Given the description of an element on the screen output the (x, y) to click on. 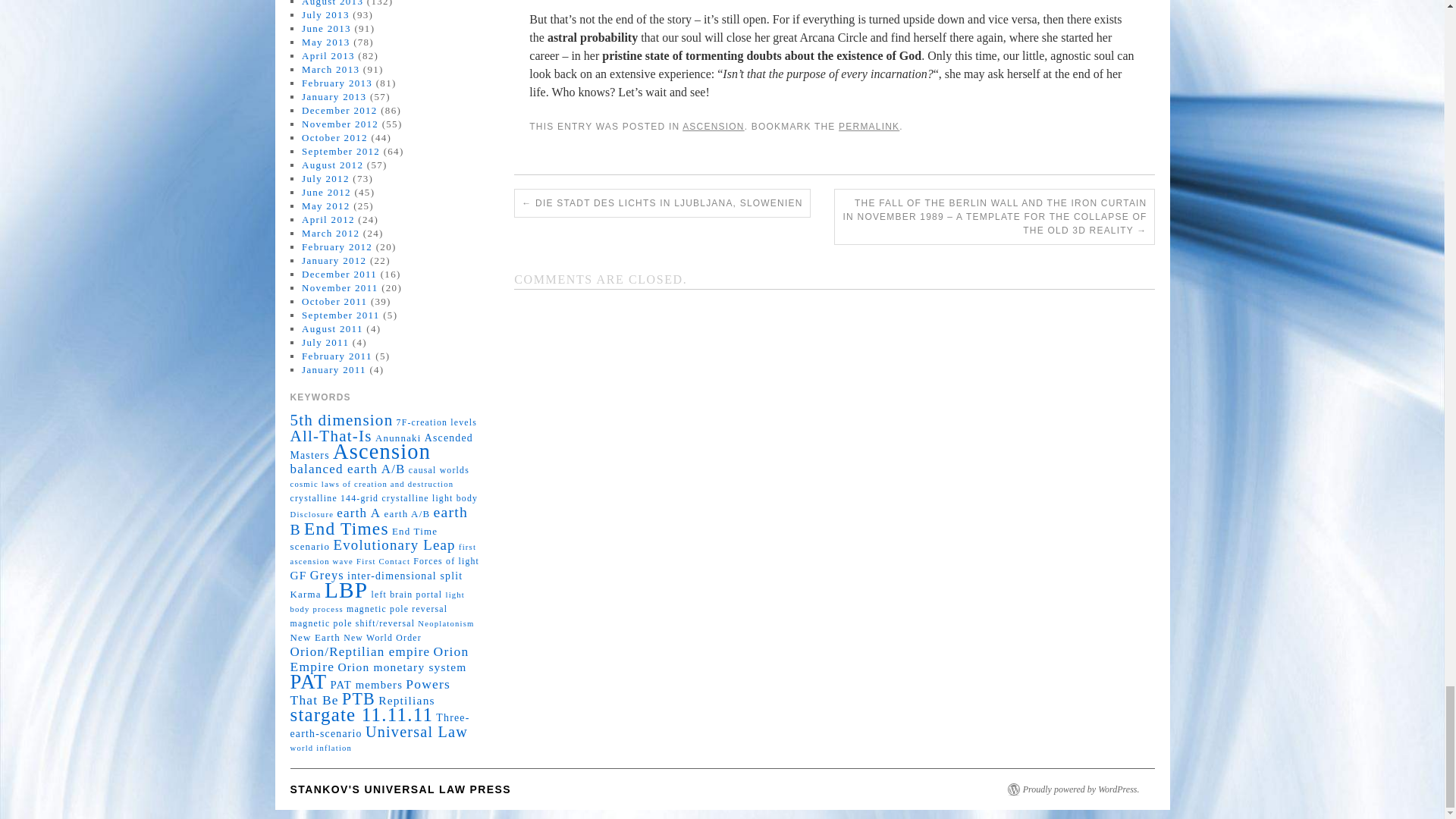
ASCENSION (713, 126)
Stankov's Universal Law Press (400, 788)
PERMALINK (868, 126)
Semantic Personal Publishing Platform (1080, 788)
Permalink to The Story of the Young Soul Who Became a Pope (868, 126)
